Given the description of an element on the screen output the (x, y) to click on. 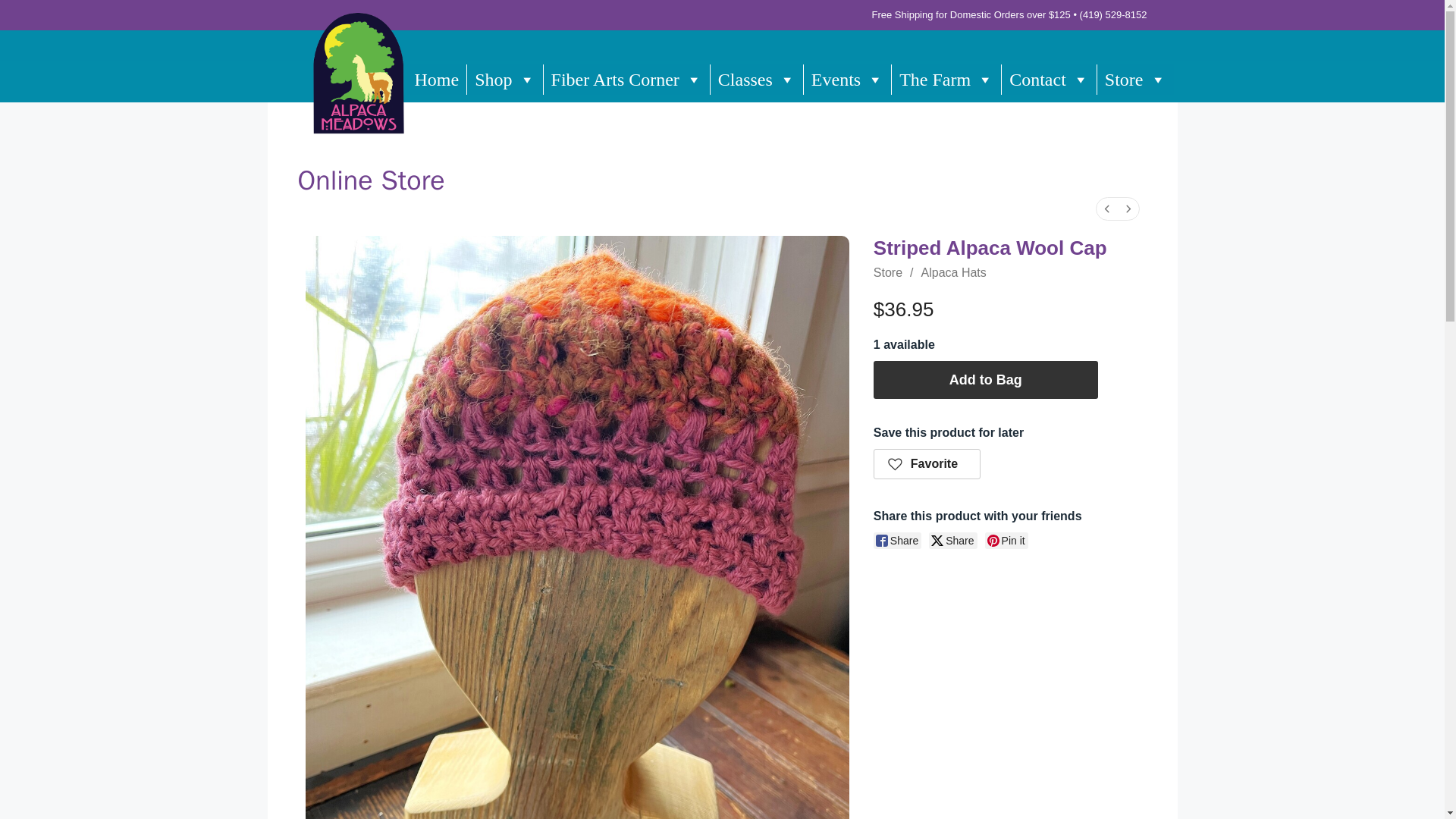
Alpaca Meadows Year Round Events (847, 78)
Shop (504, 78)
Fiber Arts Corner (626, 78)
Alpaca Meadows Unique Gifts (504, 78)
Alpaca Meadows Fiber Art Classes (756, 78)
Home (437, 78)
Explore the Farm and Visit Our Alpacas  (946, 78)
Alpaca Meadows Fiber Art Supplies (626, 78)
